Given the description of an element on the screen output the (x, y) to click on. 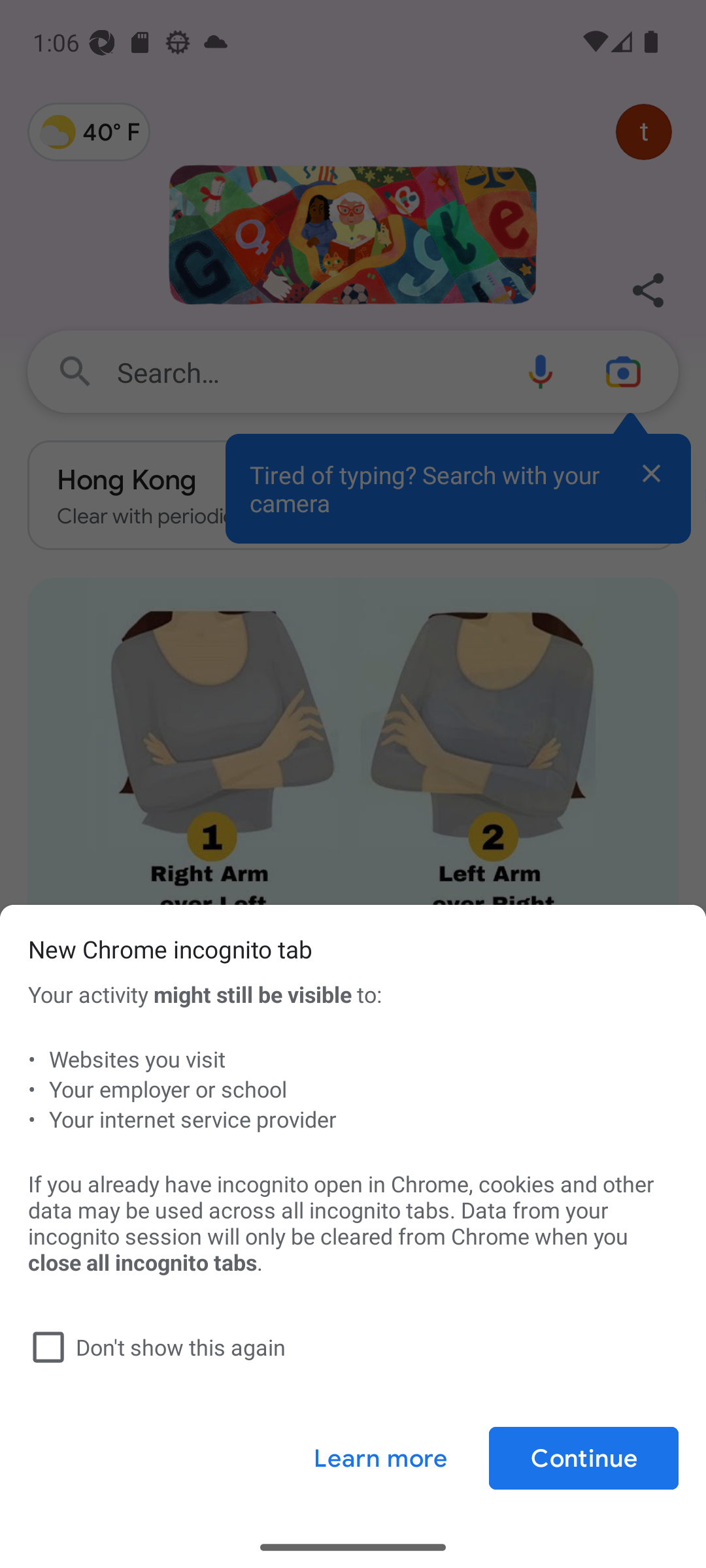
Don't show this again (349, 1346)
Learn more (380, 1458)
Continue (583, 1458)
